Given the description of an element on the screen output the (x, y) to click on. 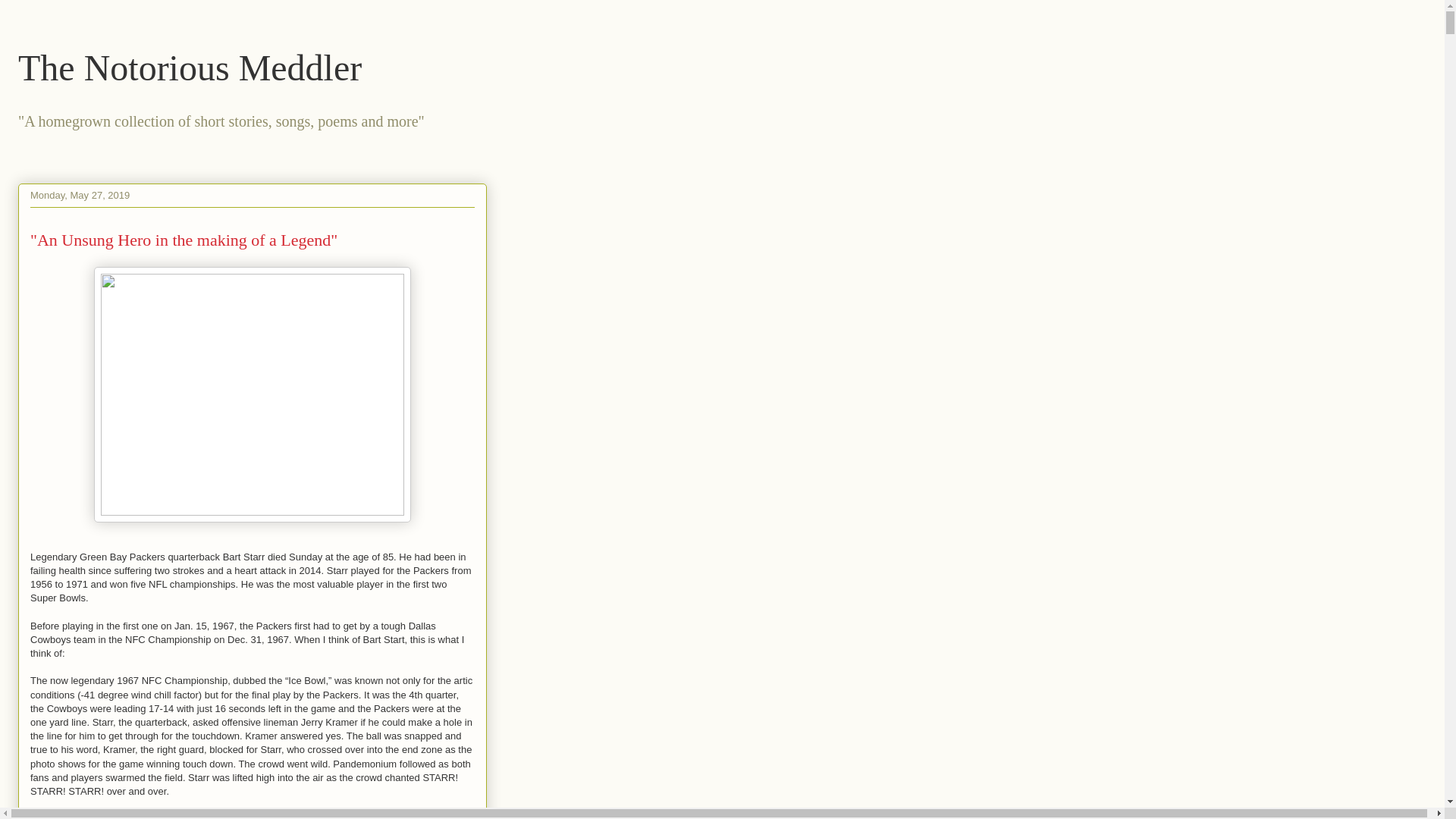
The Notorious Meddler (189, 67)
